Given the description of an element on the screen output the (x, y) to click on. 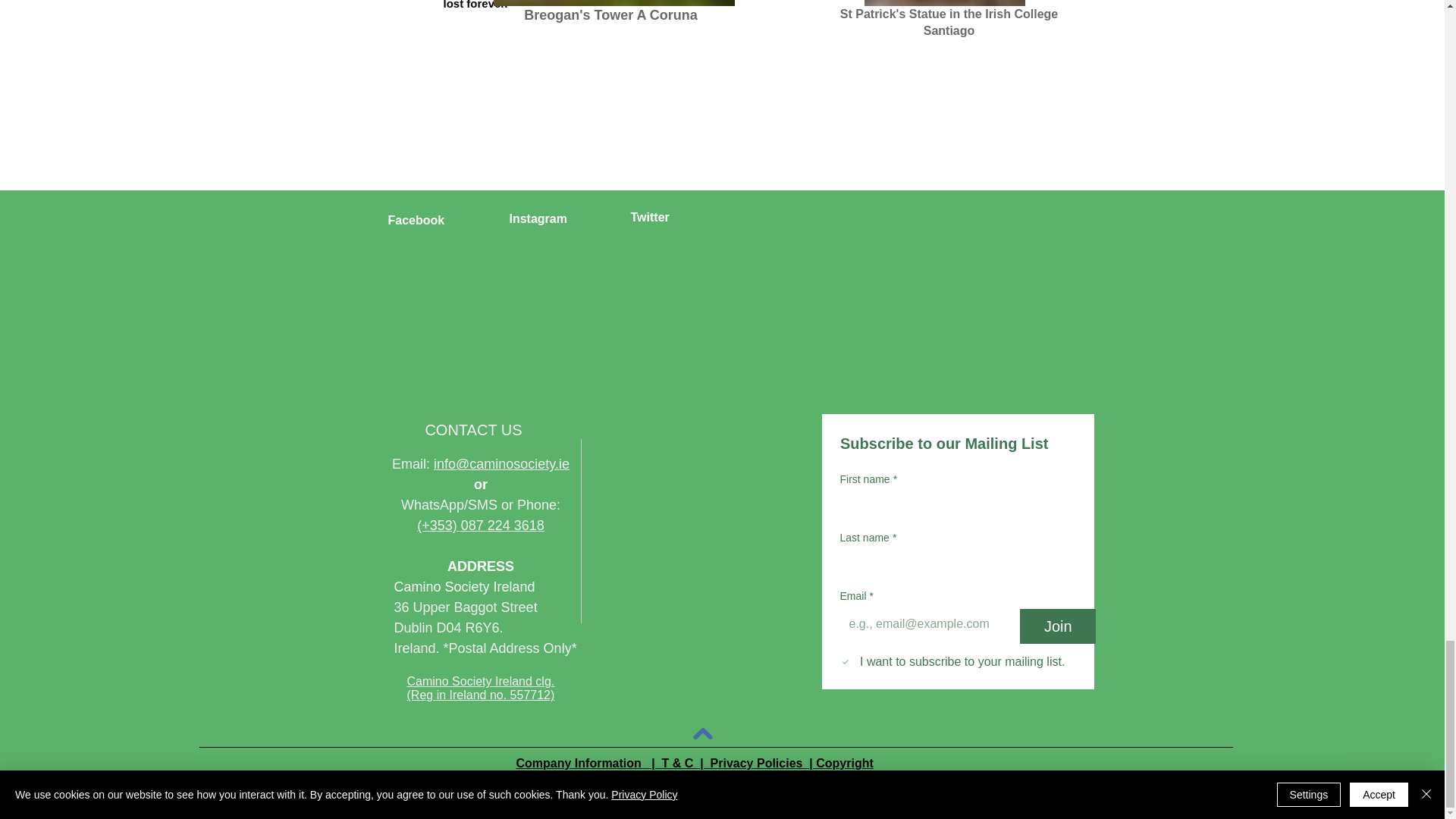
Twitter (649, 216)
Join (1058, 625)
Facebook (416, 219)
Instagram (538, 218)
All rights reserved (685, 811)
